Given the description of an element on the screen output the (x, y) to click on. 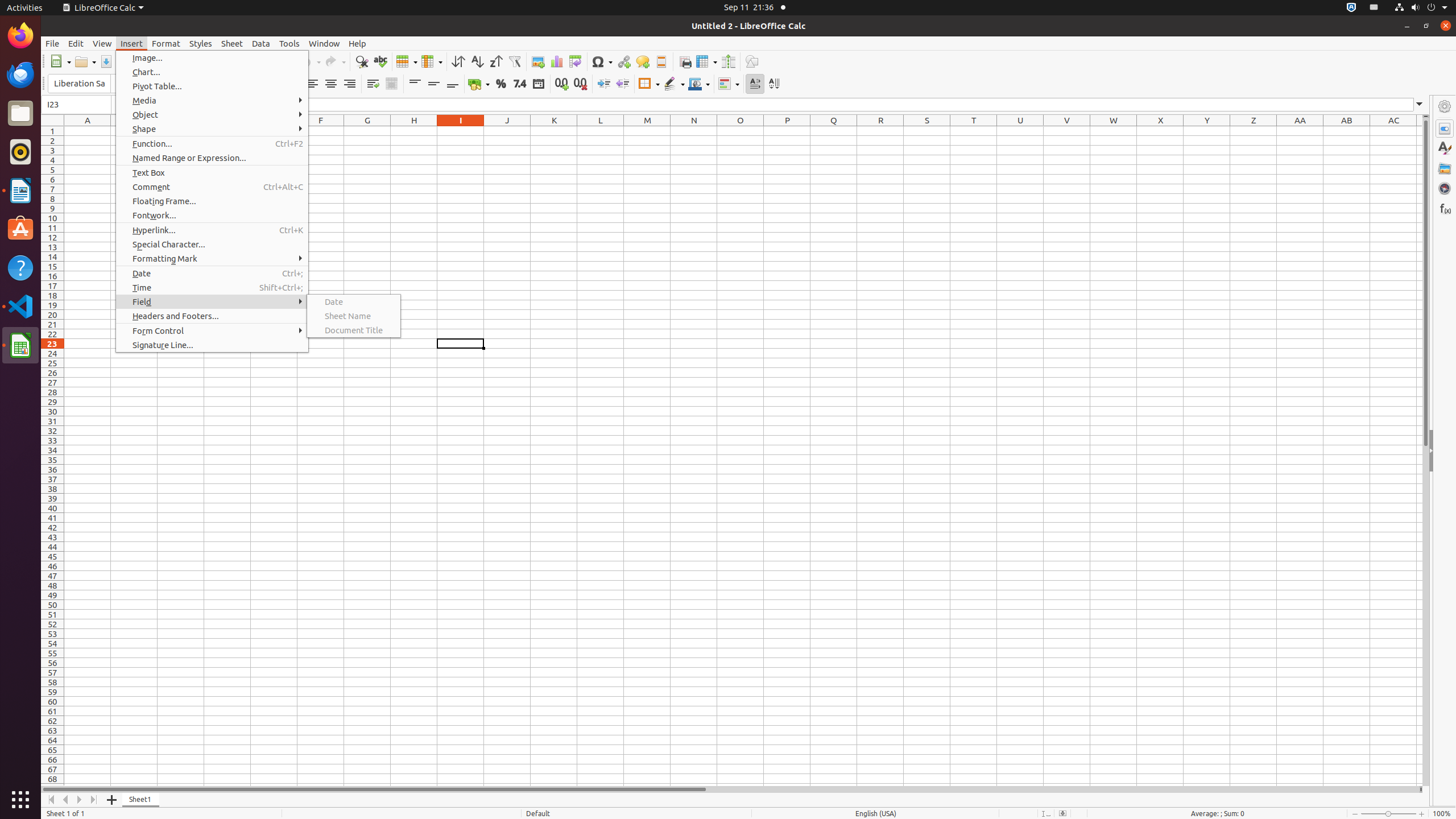
Align Top Element type: push-button (414, 83)
Date Element type: push-button (537, 83)
Move To End Element type: push-button (94, 799)
Comment Element type: menu-item (212, 186)
